Given the description of an element on the screen output the (x, y) to click on. 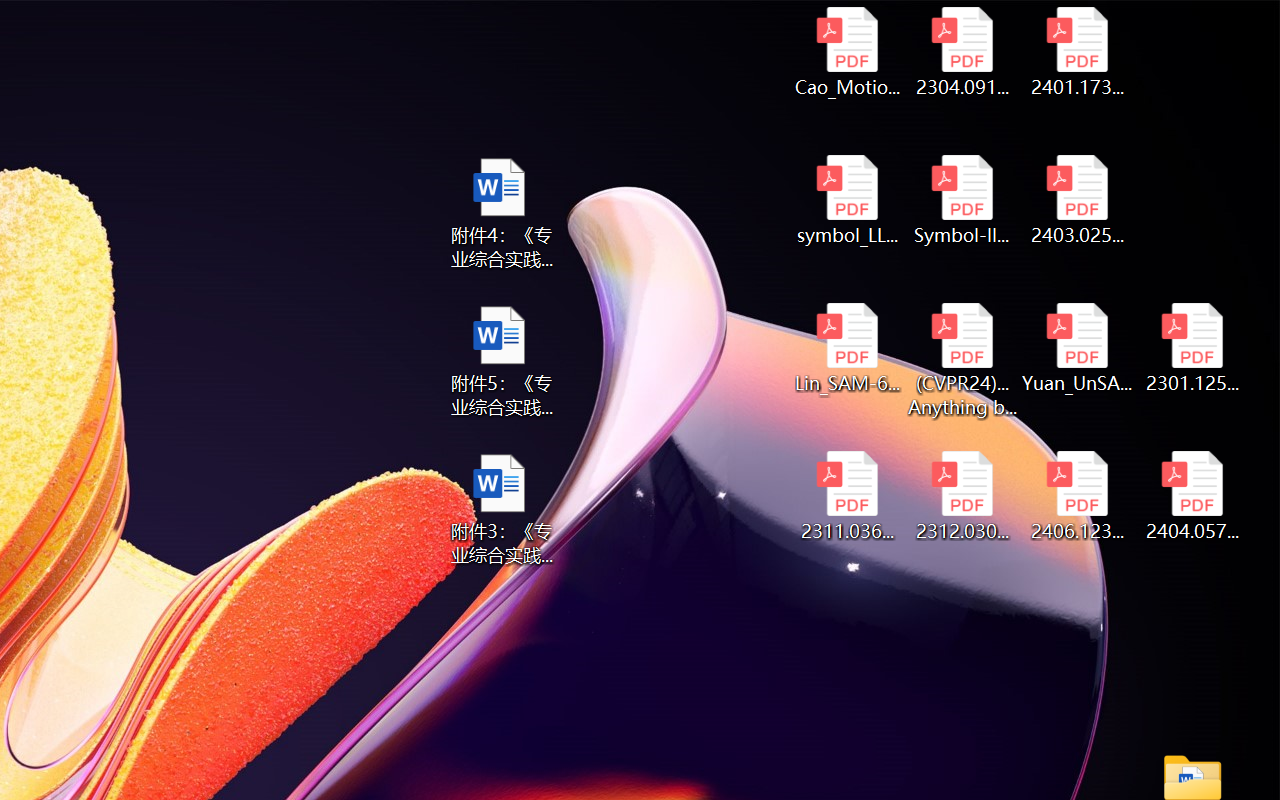
2301.12597v3.pdf (1192, 348)
symbol_LLM.pdf (846, 200)
